Given the description of an element on the screen output the (x, y) to click on. 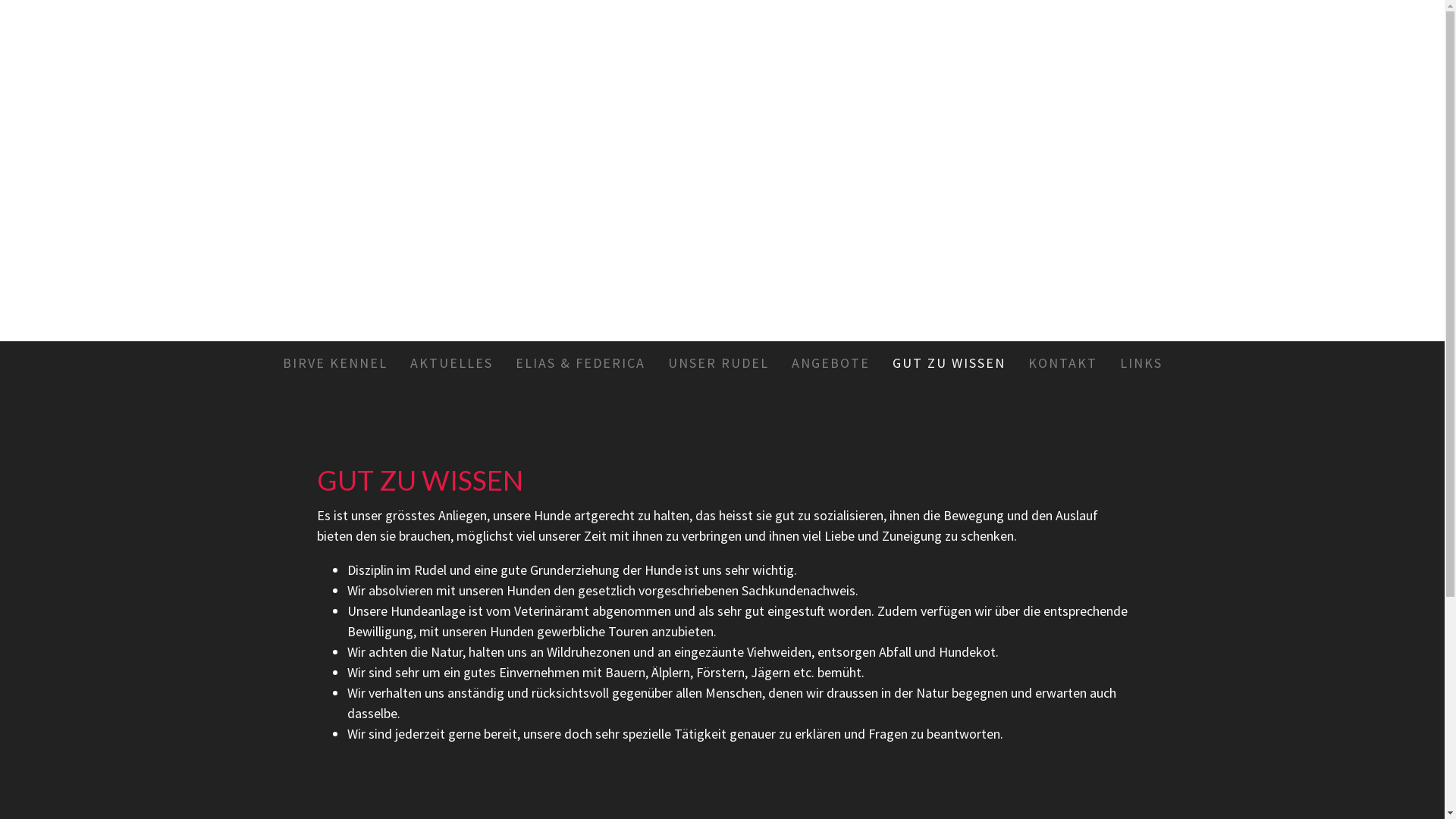
KONTAKT Element type: text (1061, 362)
LINKS Element type: text (1140, 362)
ELIAS & FEDERICA Element type: text (579, 362)
ANGEBOTE Element type: text (829, 362)
GUT ZU WISSEN Element type: text (948, 362)
BIRVE KENNEL Element type: text (334, 362)
UNSER RUDEL Element type: text (718, 362)
AKTUELLES Element type: text (451, 362)
